Given the description of an element on the screen output the (x, y) to click on. 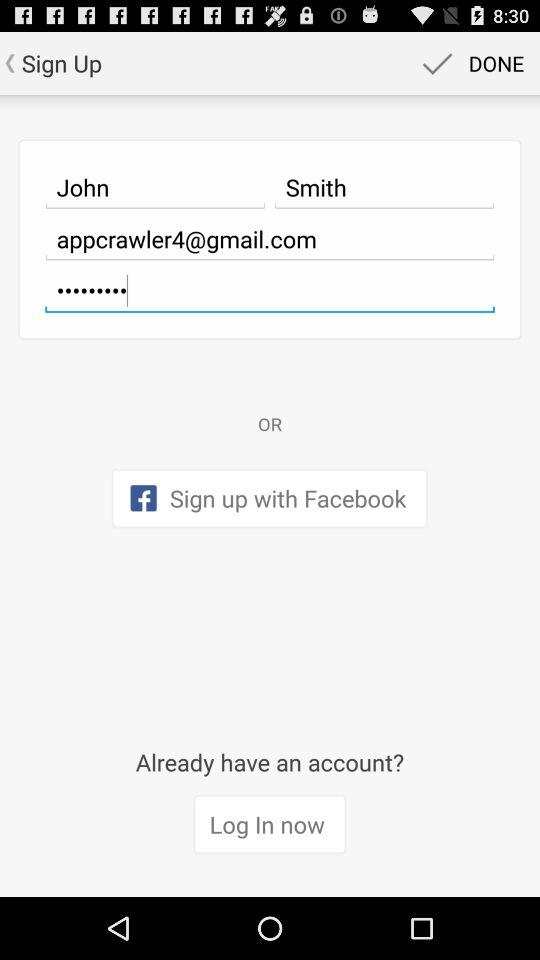
scroll to the john item (155, 187)
